Given the description of an element on the screen output the (x, y) to click on. 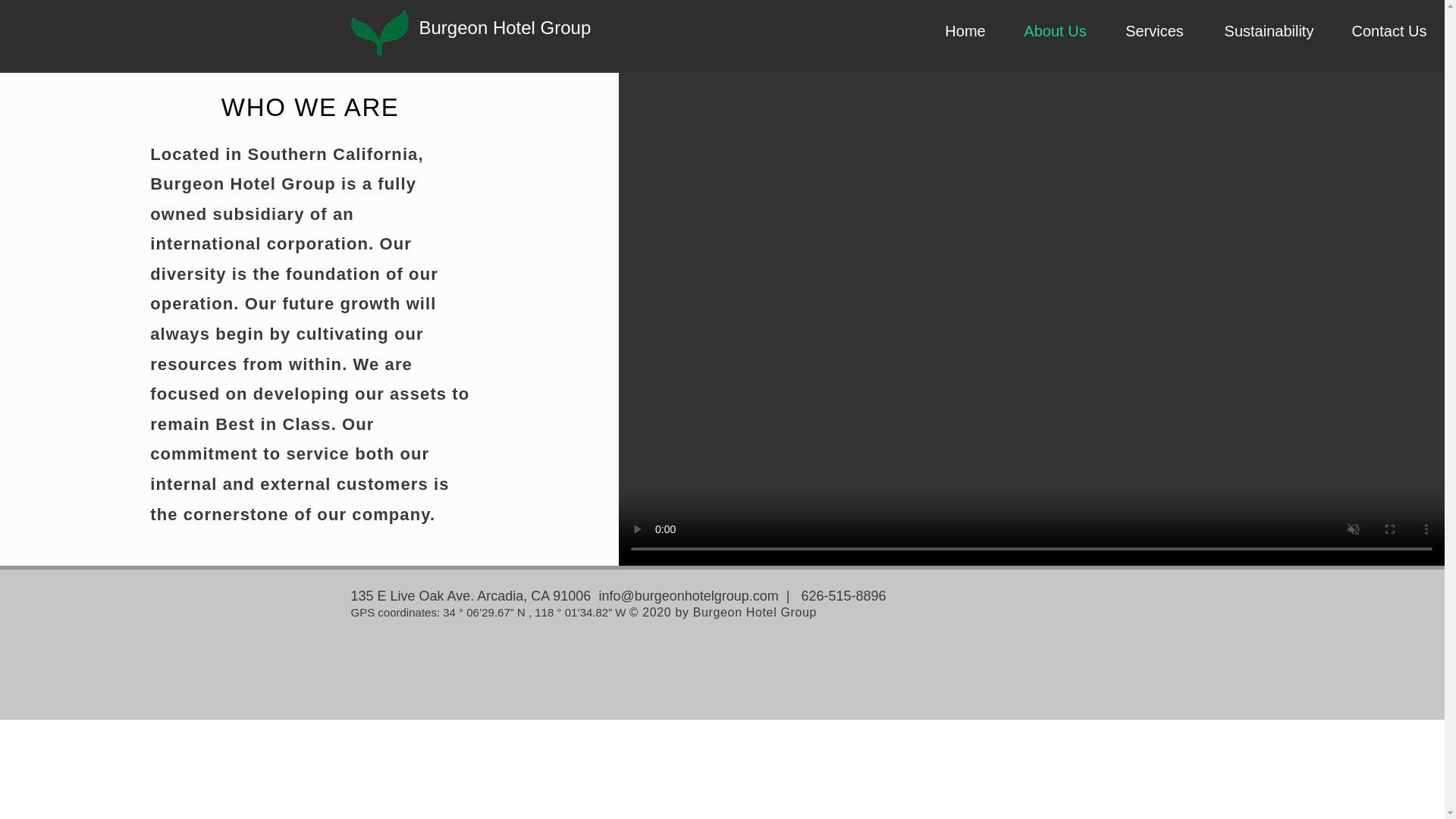
Home (965, 31)
Sustainability (1268, 31)
About Us (1055, 31)
Burgeon Hotel Group (505, 25)
Services (1154, 31)
